Given the description of an element on the screen output the (x, y) to click on. 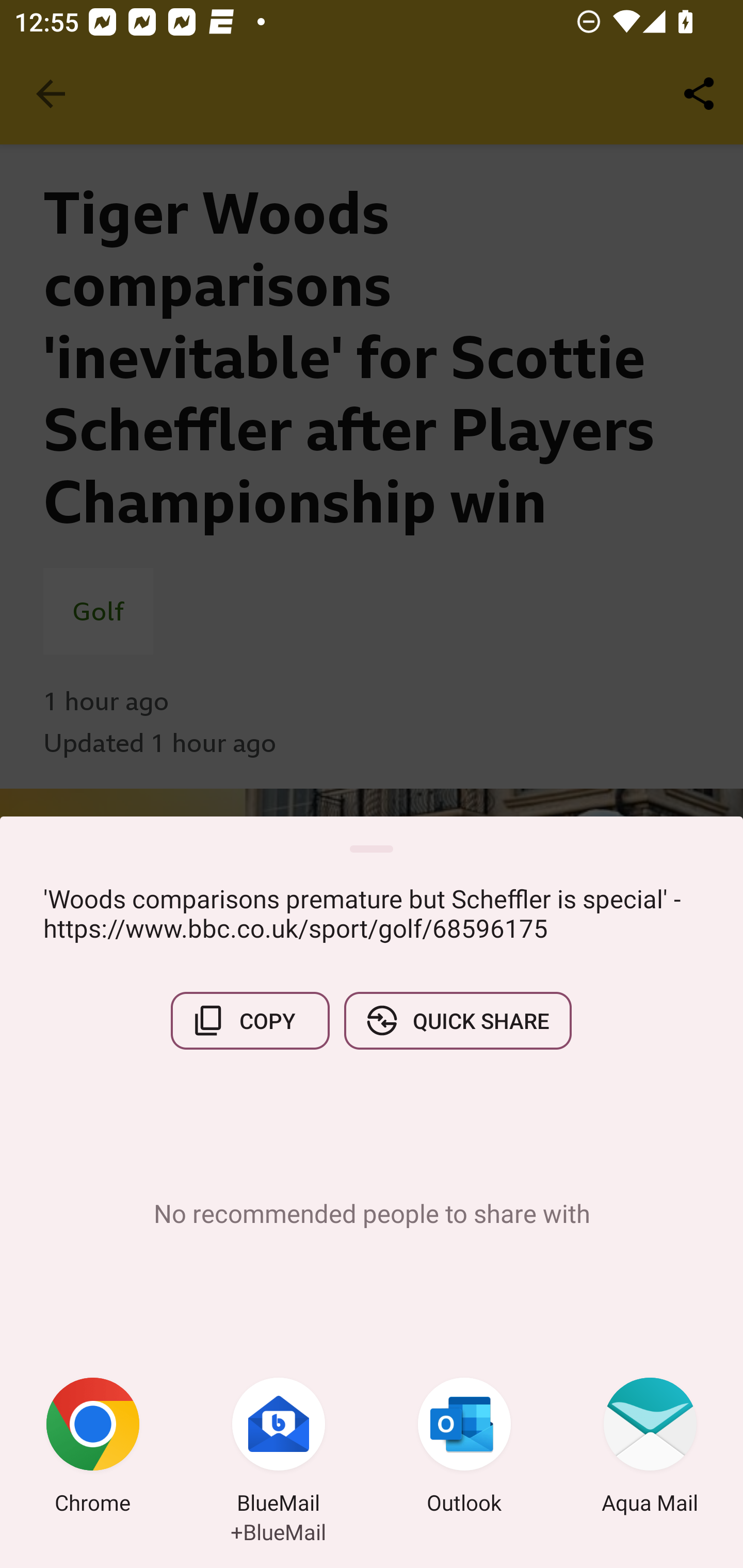
COPY (249, 1020)
QUICK SHARE (457, 1020)
Chrome (92, 1448)
BlueMail +BlueMail (278, 1448)
Outlook (464, 1448)
Aqua Mail (650, 1448)
